Given the description of an element on the screen output the (x, y) to click on. 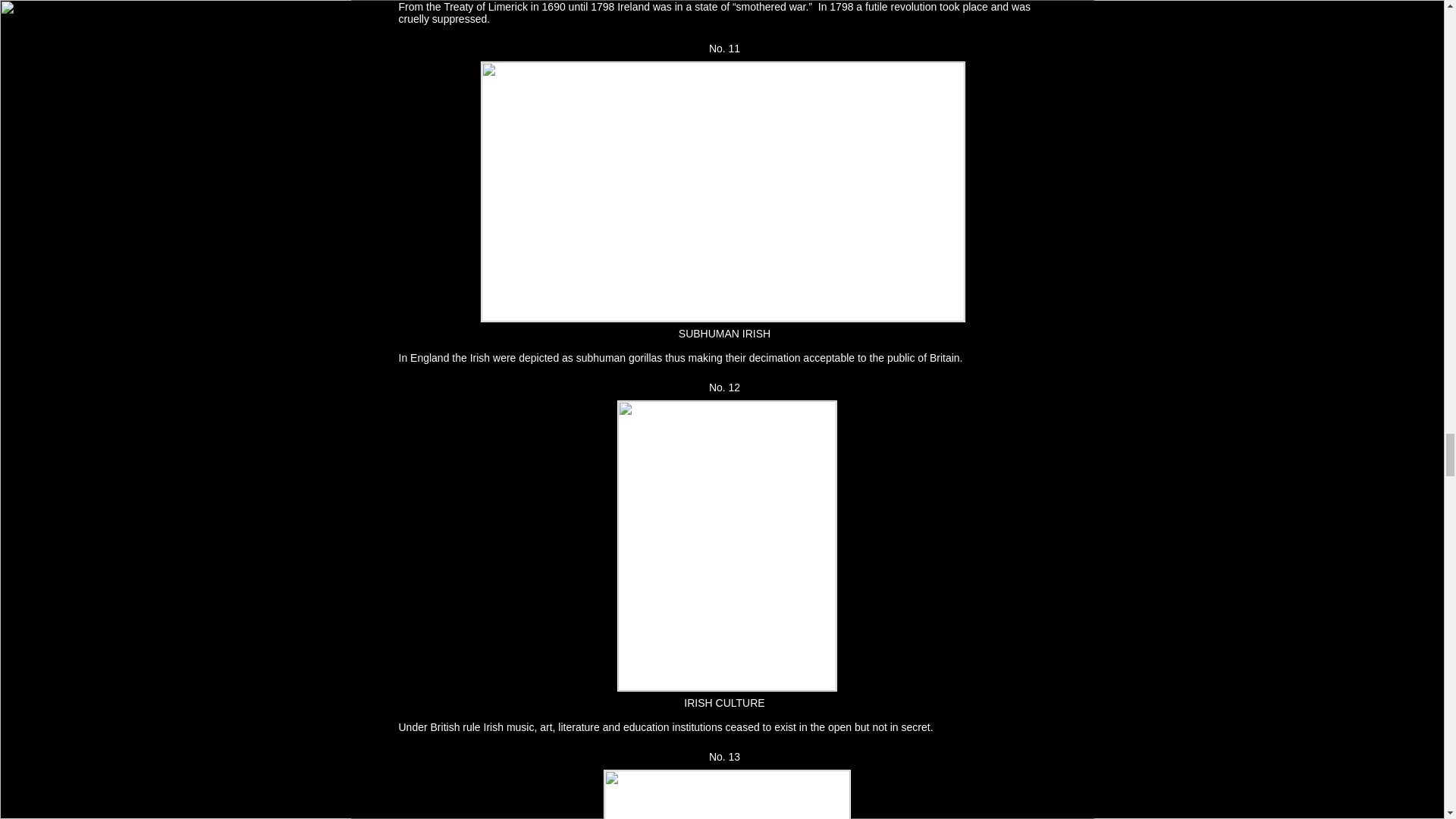
IMG-Chapter9N.jpg (727, 794)
IMG-Chapter9L.jpg (722, 191)
